Given the description of an element on the screen output the (x, y) to click on. 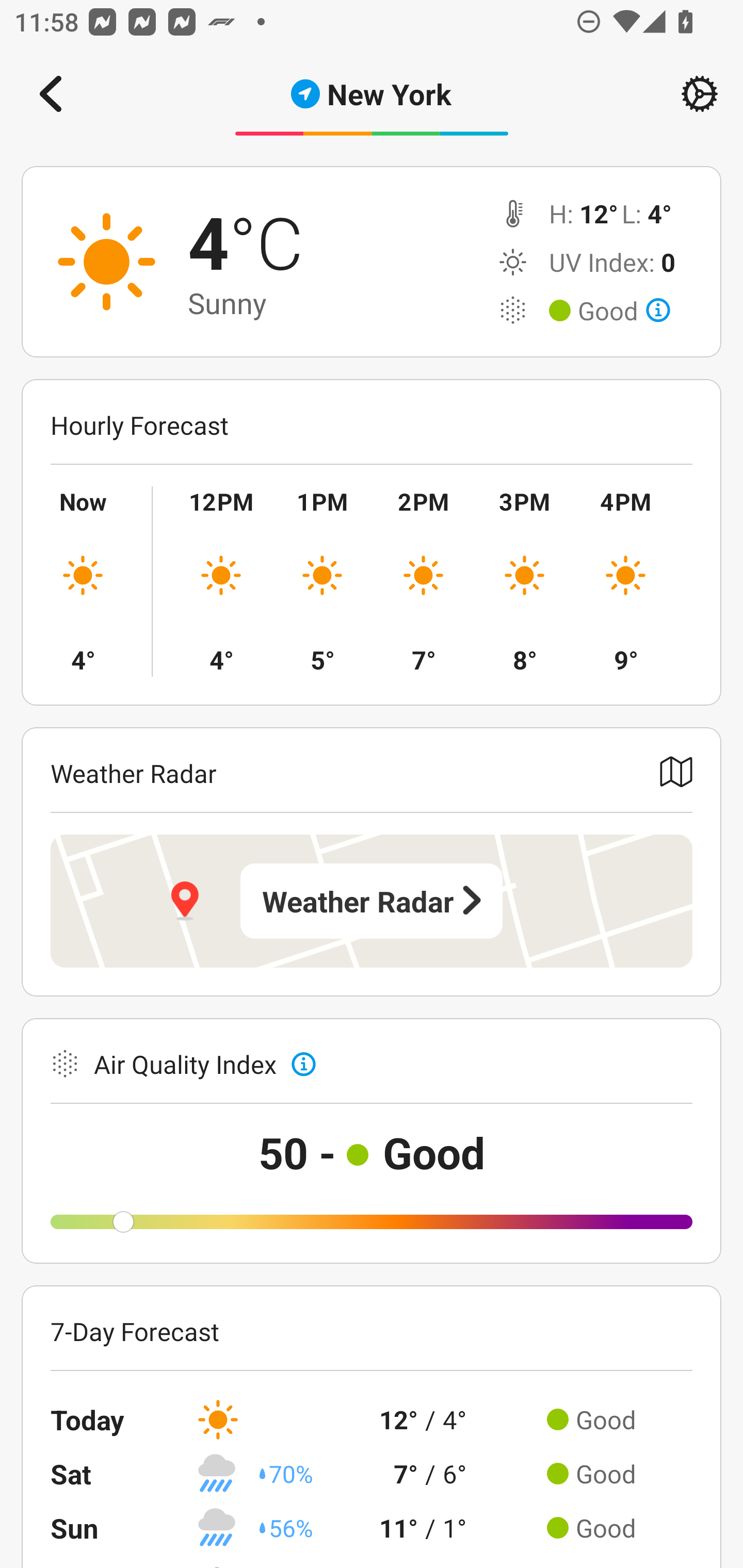
Navigate up (50, 93)
Setting (699, 93)
Good (624, 310)
Weather Radar (371, 900)
